Given the description of an element on the screen output the (x, y) to click on. 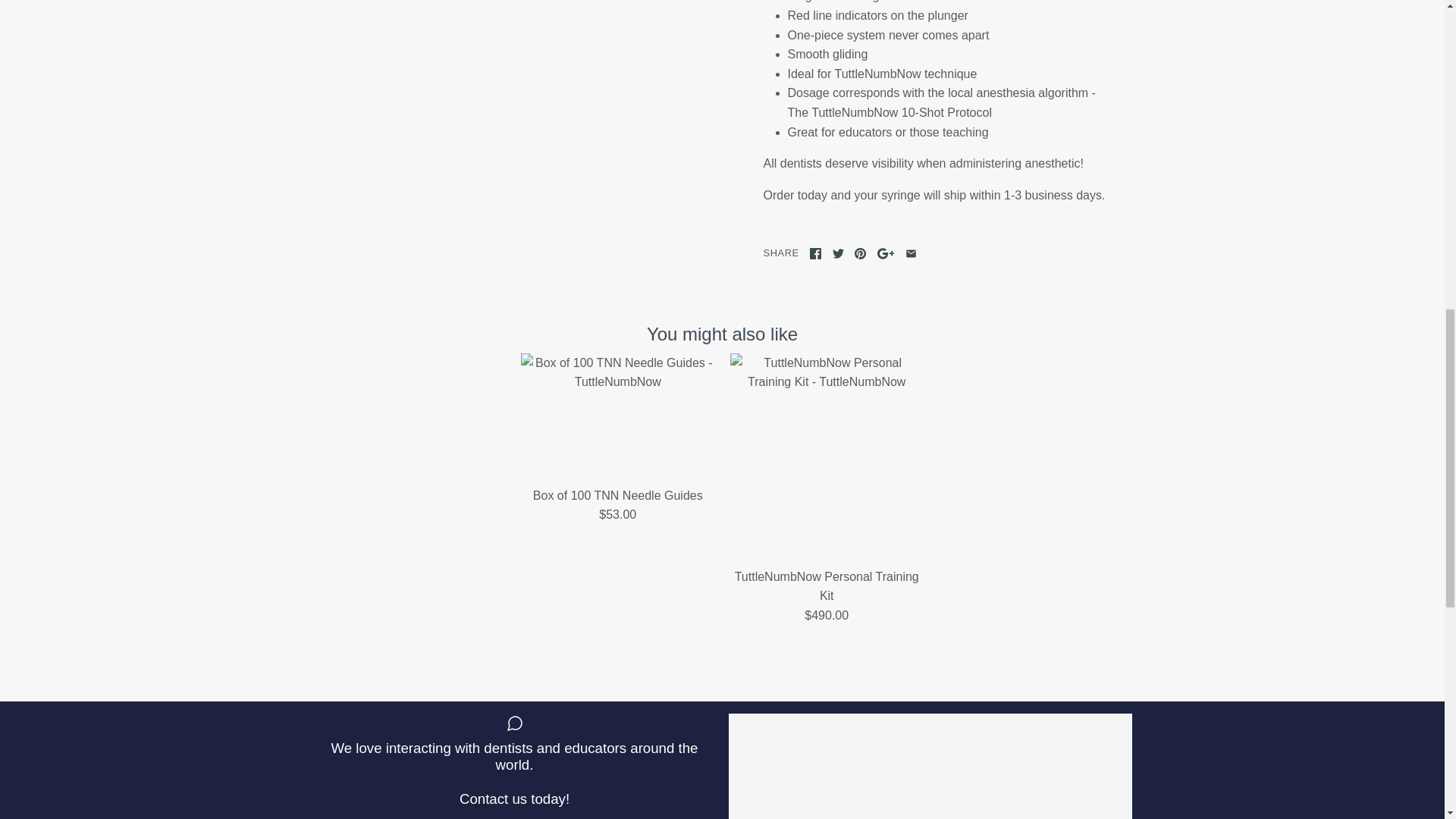
Pinterest (860, 253)
Email (911, 253)
GooglePlus (885, 253)
Share using email (911, 253)
Email (911, 253)
Pin the main image (860, 253)
Pinterest (860, 253)
GooglePlus (886, 253)
Share on Twitter (838, 253)
Share on Facebook (815, 253)
Facebook (815, 253)
Twitter (838, 253)
Twitter (838, 253)
Facebook (815, 253)
